Given the description of an element on the screen output the (x, y) to click on. 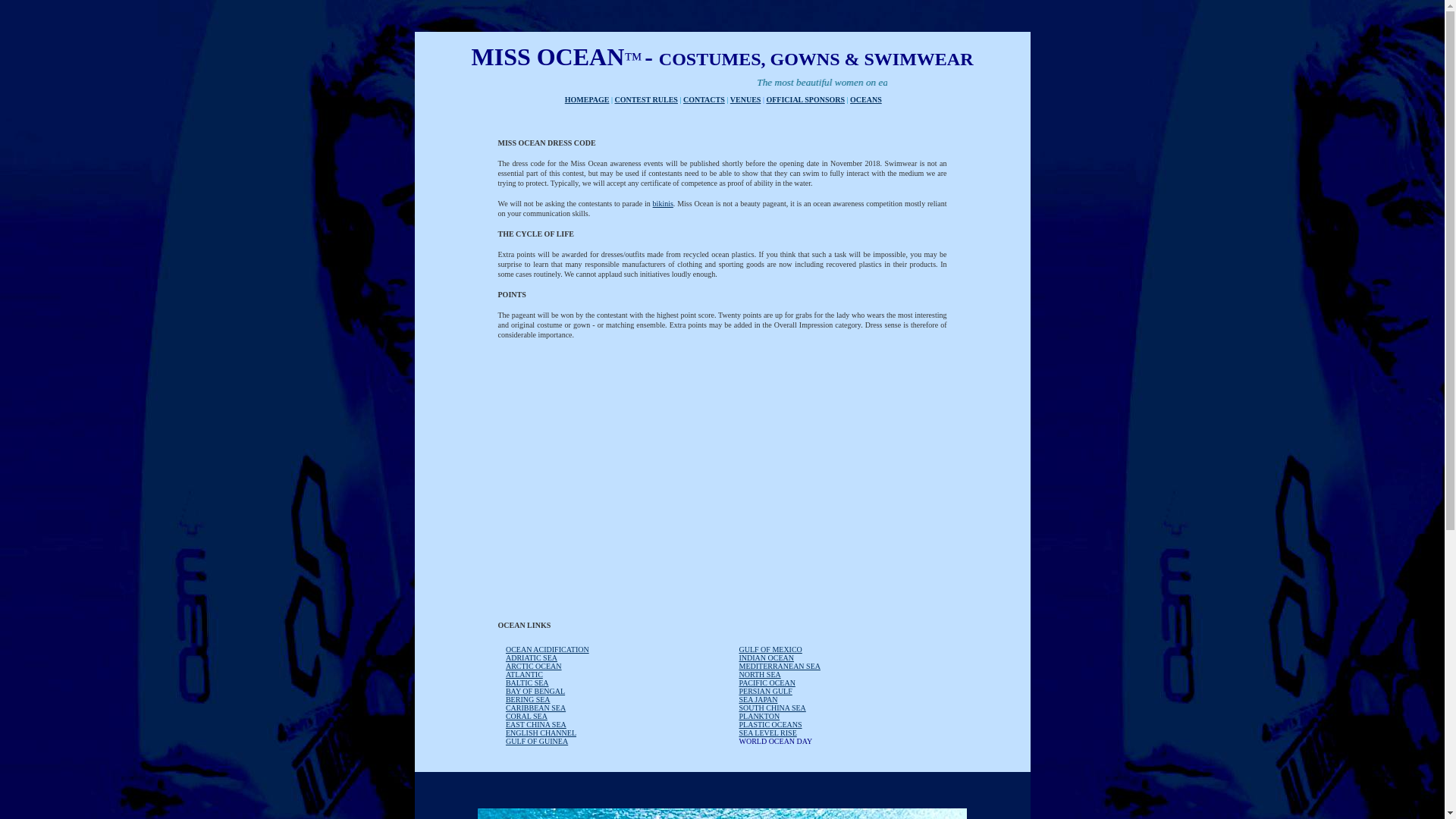
ARCTIC OCEAN (533, 664)
HOMEPAGE (587, 99)
bikinis (662, 203)
BERING SEA (527, 697)
OCEANS (866, 99)
SEA LEVEL RISE (767, 730)
GULF OF GUINEA (536, 739)
SOUTH CHINA SEA (771, 706)
BAY OF BENGAL (534, 689)
CONTEST RULES (645, 99)
SEA JAPAN (757, 697)
EAST CHINA SEA (535, 722)
MEDITERRANEAN SEA (779, 664)
BALTIC SEA (526, 680)
